Given the description of an element on the screen output the (x, y) to click on. 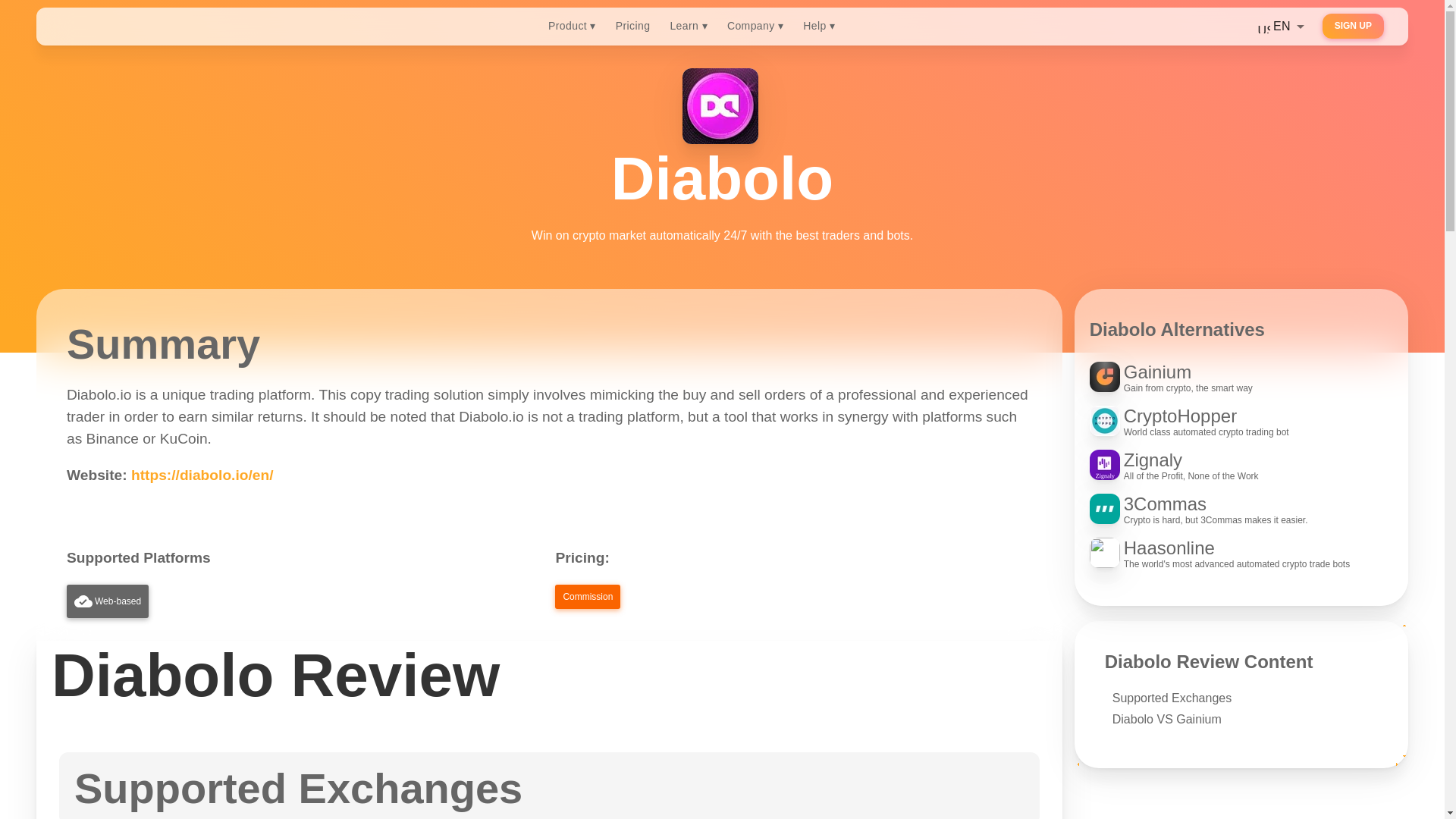
Pricing (1241, 465)
Diabolo VS Gainium (633, 26)
SIGN UP (1166, 718)
US (1241, 509)
Supported Exchanges (1353, 25)
